Given the description of an element on the screen output the (x, y) to click on. 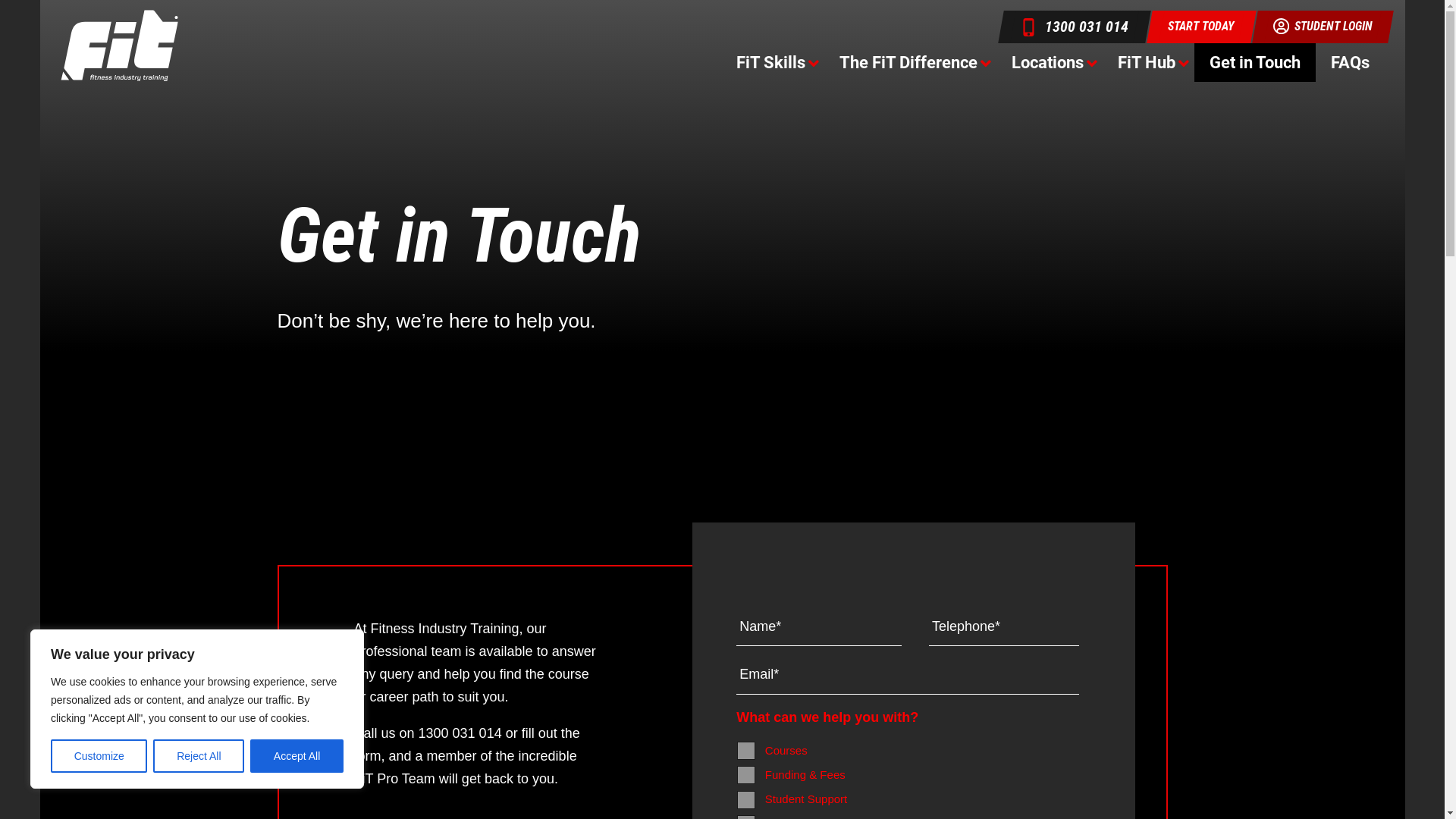
START TODAY Element type: text (1201, 26)
The FiT Difference Element type: text (909, 61)
STUDENT LOGIN Element type: text (1322, 26)
FiT Hub Element type: text (1148, 61)
Get in Touch Element type: text (1253, 61)
Accept All Element type: text (296, 755)
Locations Element type: text (1049, 61)
FAQs Element type: text (1348, 61)
Reject All Element type: text (198, 755)
1300 031 014 Element type: text (1074, 26)
Customize Element type: text (98, 755)
FiT Skills Element type: text (771, 61)
